Given the description of an element on the screen output the (x, y) to click on. 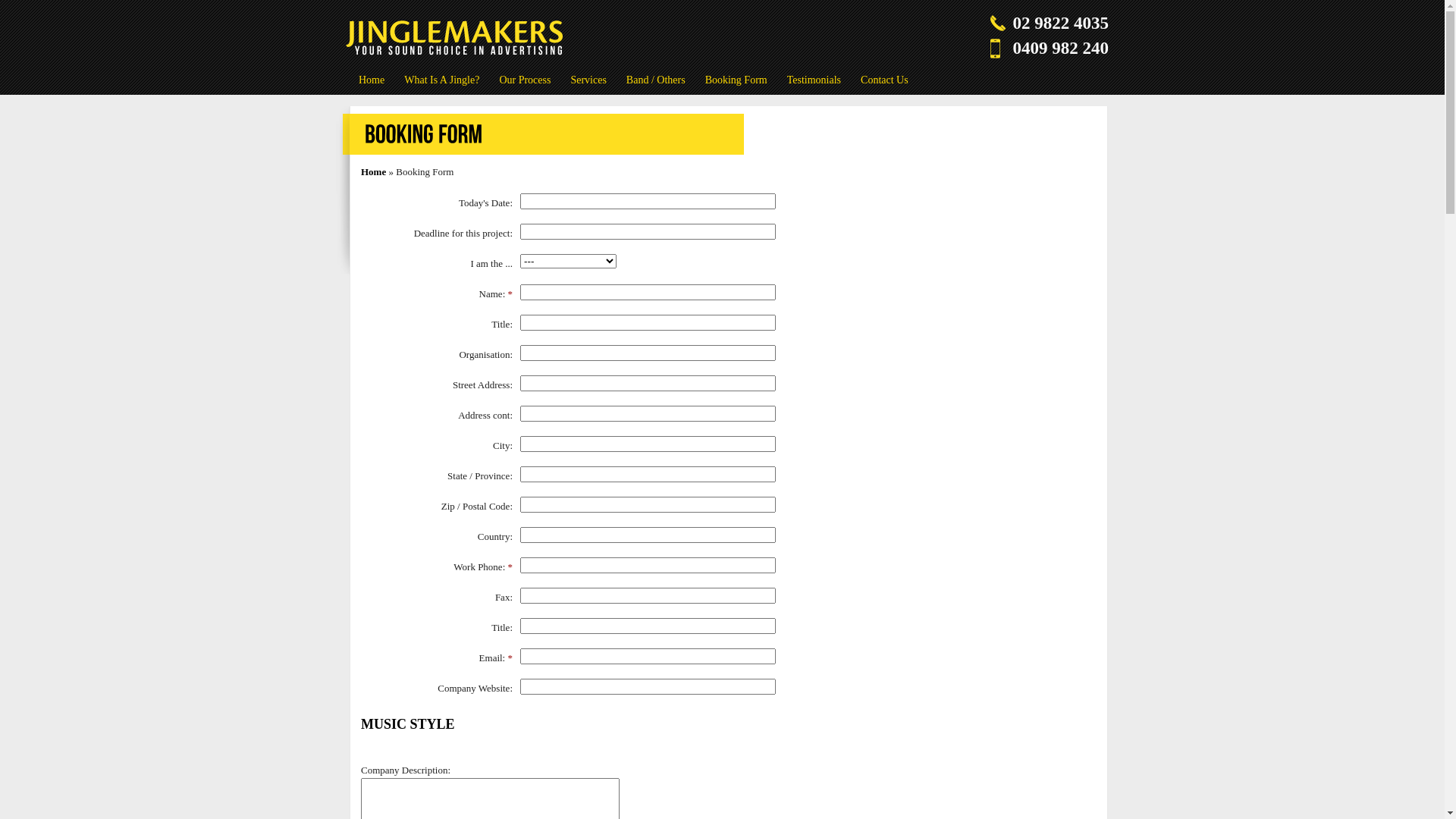
Booking Form Element type: text (736, 79)
What Is A Jingle? Element type: text (441, 79)
Testimonials Element type: text (813, 79)
Services Element type: text (587, 79)
Home Element type: text (372, 171)
Home Element type: text (371, 79)
Band / Others Element type: text (655, 79)
Contact Us Element type: text (884, 79)
Our Process Element type: text (524, 79)
